Given the description of an element on the screen output the (x, y) to click on. 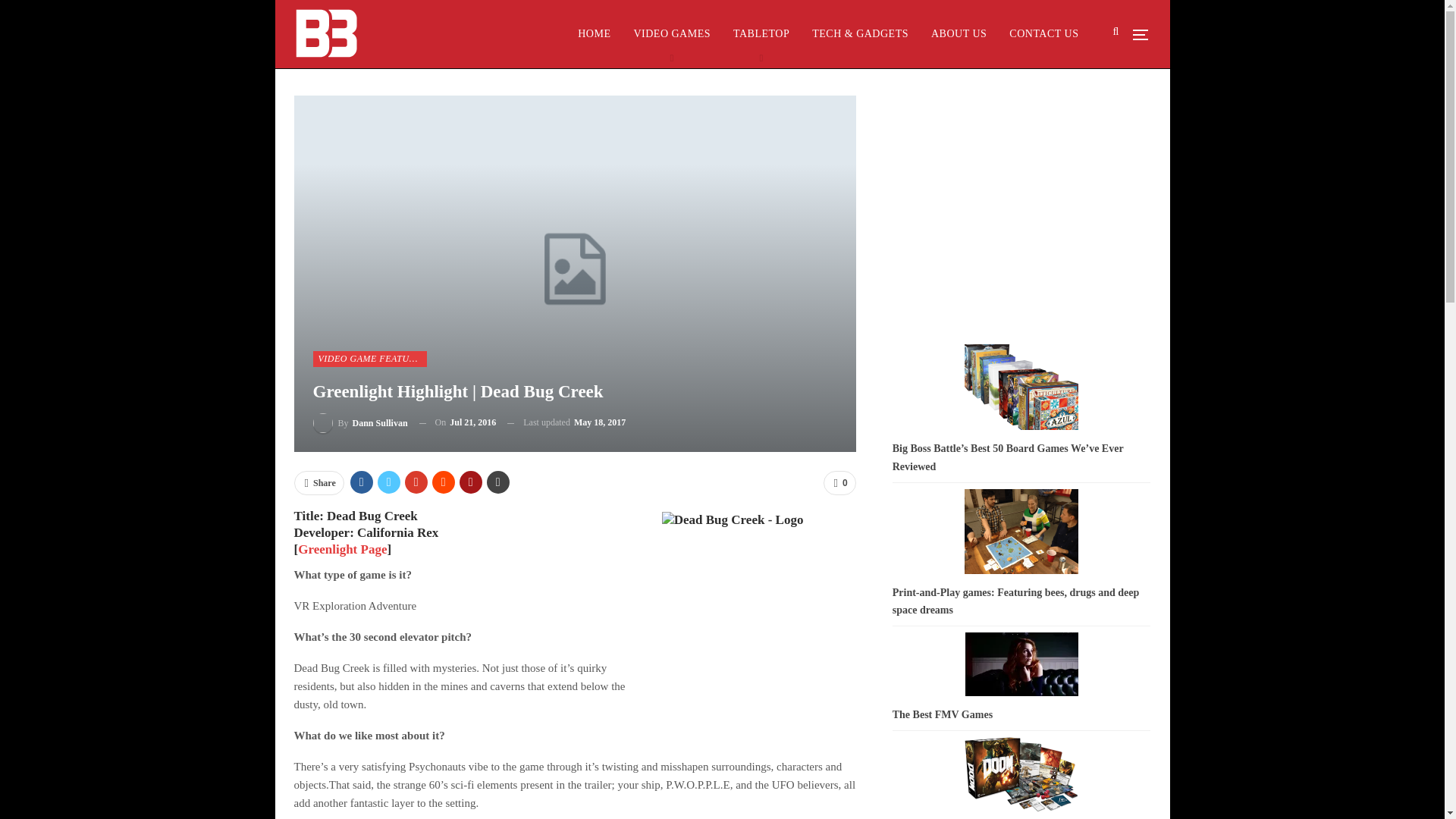
VIDEO GAME FEATURES (369, 358)
Browse Author Articles (360, 422)
By Dann Sullivan (360, 422)
CONTACT US (1043, 33)
ABOUT US (958, 33)
VIDEO GAMES (671, 33)
Greenlight Page (342, 549)
TABLETOP (761, 33)
0 (840, 482)
